Given the description of an element on the screen output the (x, y) to click on. 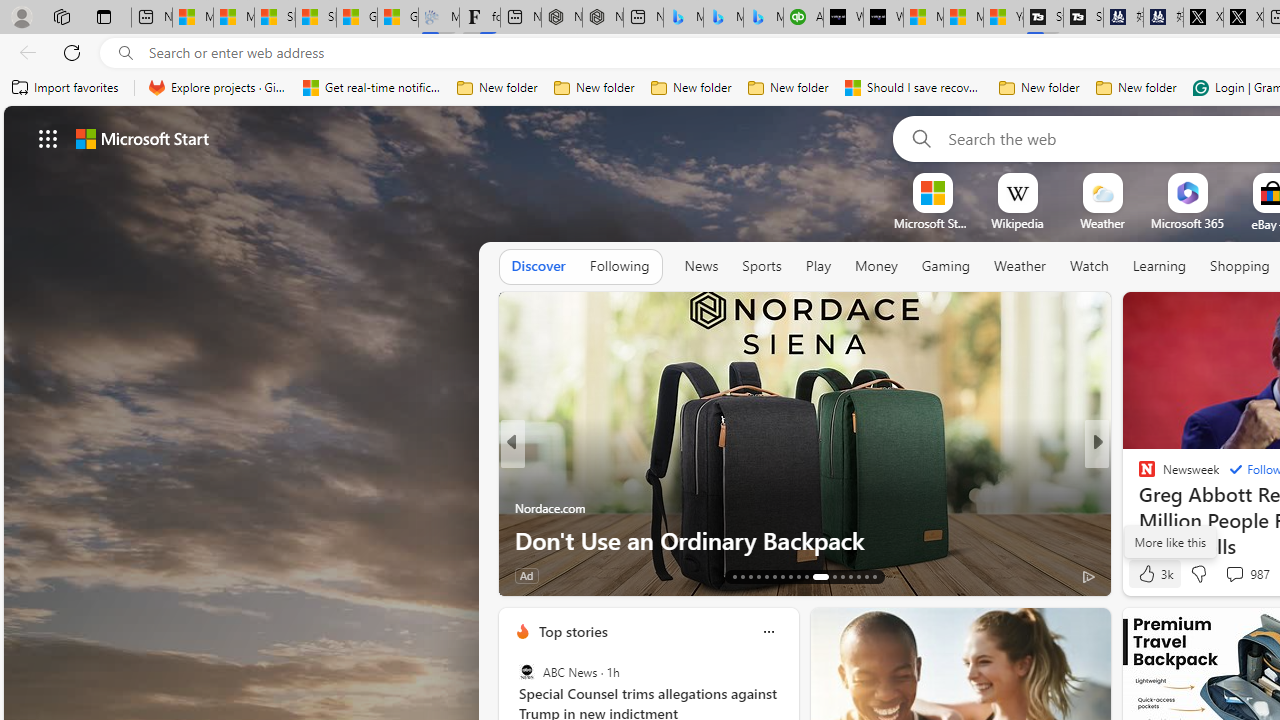
Learning (1159, 267)
Streaming Coverage | T3 (1043, 17)
Watch (1089, 265)
View comments 17 Comment (1234, 575)
View comments 85 Comment (1229, 575)
Gaming (945, 267)
View comments 85 Comment (1237, 574)
AutomationID: tab-15 (750, 576)
Microsoft Start Sports (932, 223)
View comments 2 Comment (1234, 574)
Gaming (945, 265)
Sports (761, 267)
Following (619, 265)
